Given the description of an element on the screen output the (x, y) to click on. 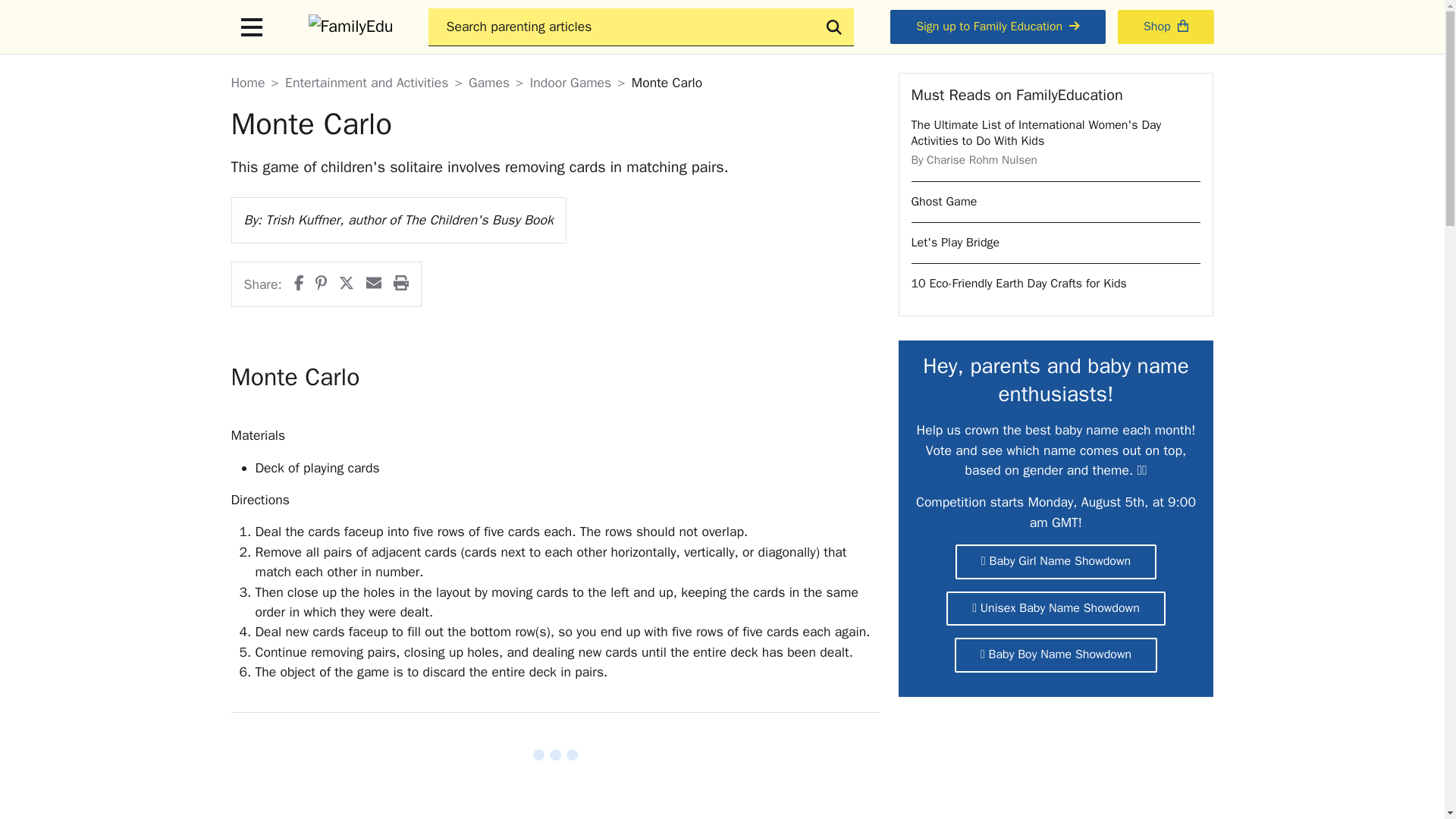
Shop (1166, 27)
Share this page to twitter (346, 284)
Print this page (401, 284)
Share this page to an email (373, 284)
Sign up to Family Education (997, 27)
